Given the description of an element on the screen output the (x, y) to click on. 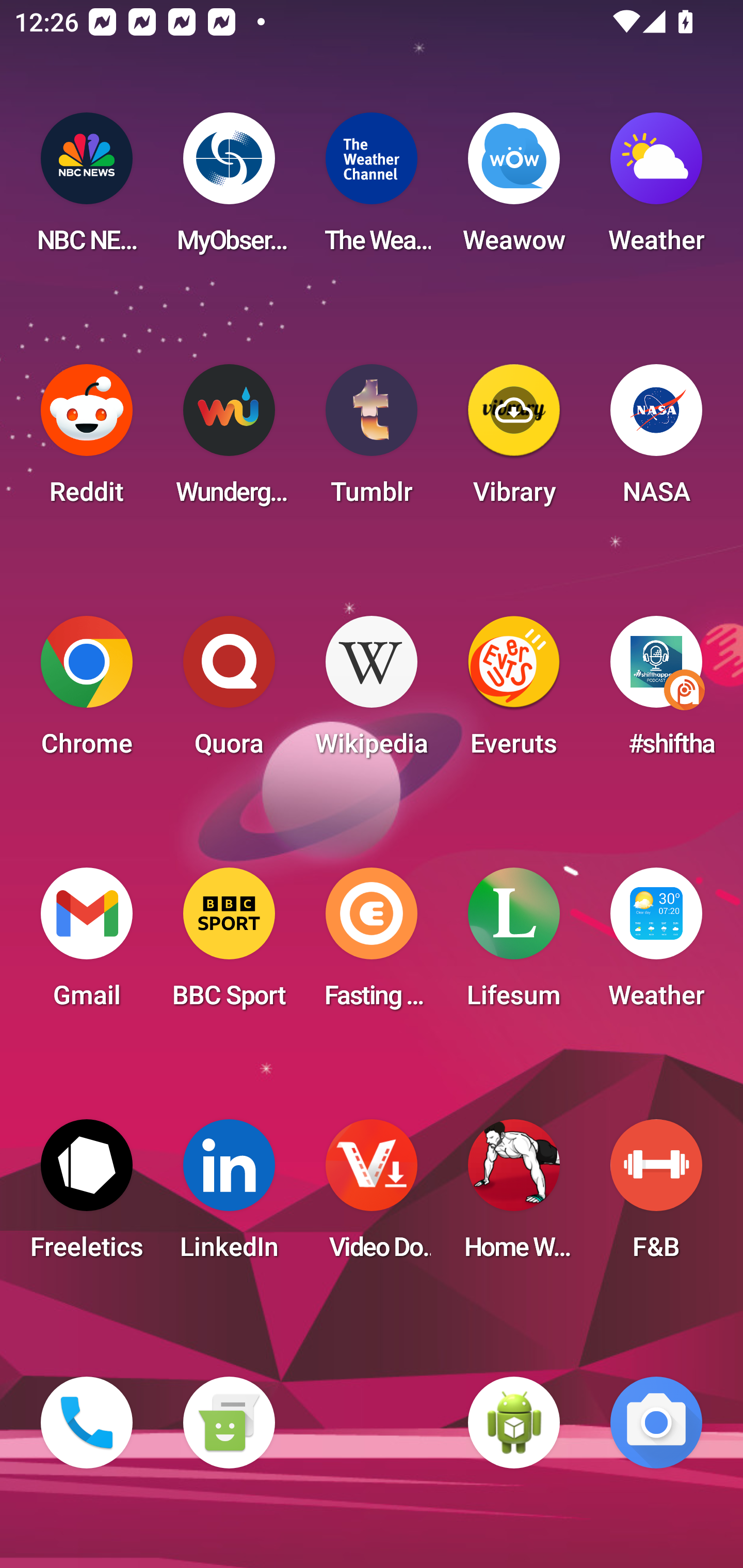
NBC NEWS (86, 188)
MyObservatory (228, 188)
The Weather Channel (371, 188)
Weawow (513, 188)
Weather (656, 188)
Reddit (86, 440)
Wunderground (228, 440)
Tumblr (371, 440)
Vibrary (513, 440)
NASA (656, 440)
Chrome (86, 692)
Quora (228, 692)
Wikipedia (371, 692)
Everuts (513, 692)
#shifthappens in the Digital Workplace Podcast (656, 692)
Gmail (86, 943)
BBC Sport (228, 943)
Fasting Coach (371, 943)
Lifesum (513, 943)
Weather (656, 943)
Freeletics (86, 1195)
LinkedIn (228, 1195)
Video Downloader & Ace Player (371, 1195)
Home Workout (513, 1195)
F&B (656, 1195)
Phone (86, 1422)
Messaging (228, 1422)
WebView Browser Tester (513, 1422)
Camera (656, 1422)
